Given the description of an element on the screen output the (x, y) to click on. 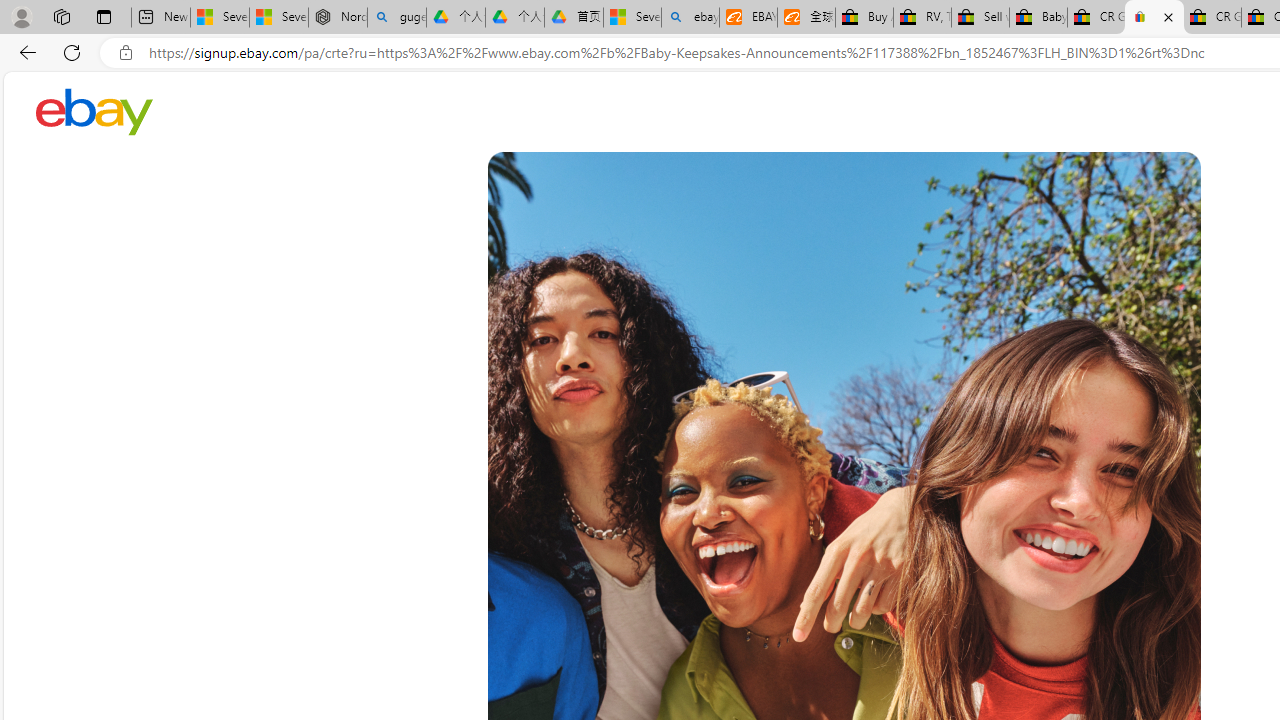
Register: Create a personal eBay account (1154, 17)
eBay Home (94, 111)
